Given the description of an element on the screen output the (x, y) to click on. 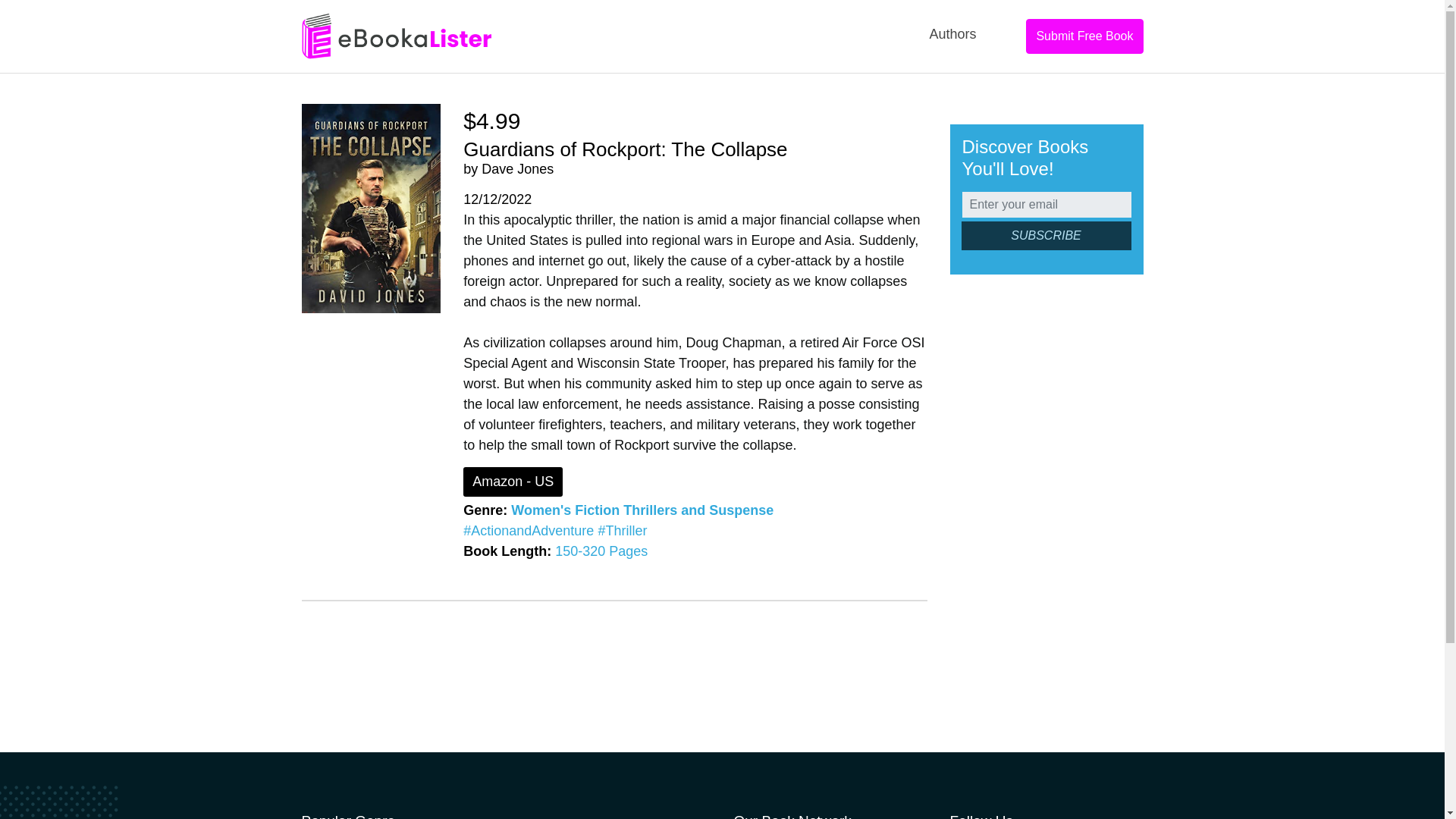
Authors (952, 34)
Guardians of Rockport: The Collapse (625, 149)
Submit Free Book (1084, 36)
150-320 Pages (600, 550)
Subscribe (1045, 235)
Amazon - US (512, 481)
Subscribe (1045, 235)
Women's Fiction (565, 509)
Thrillers and Suspense (698, 509)
